Given the description of an element on the screen output the (x, y) to click on. 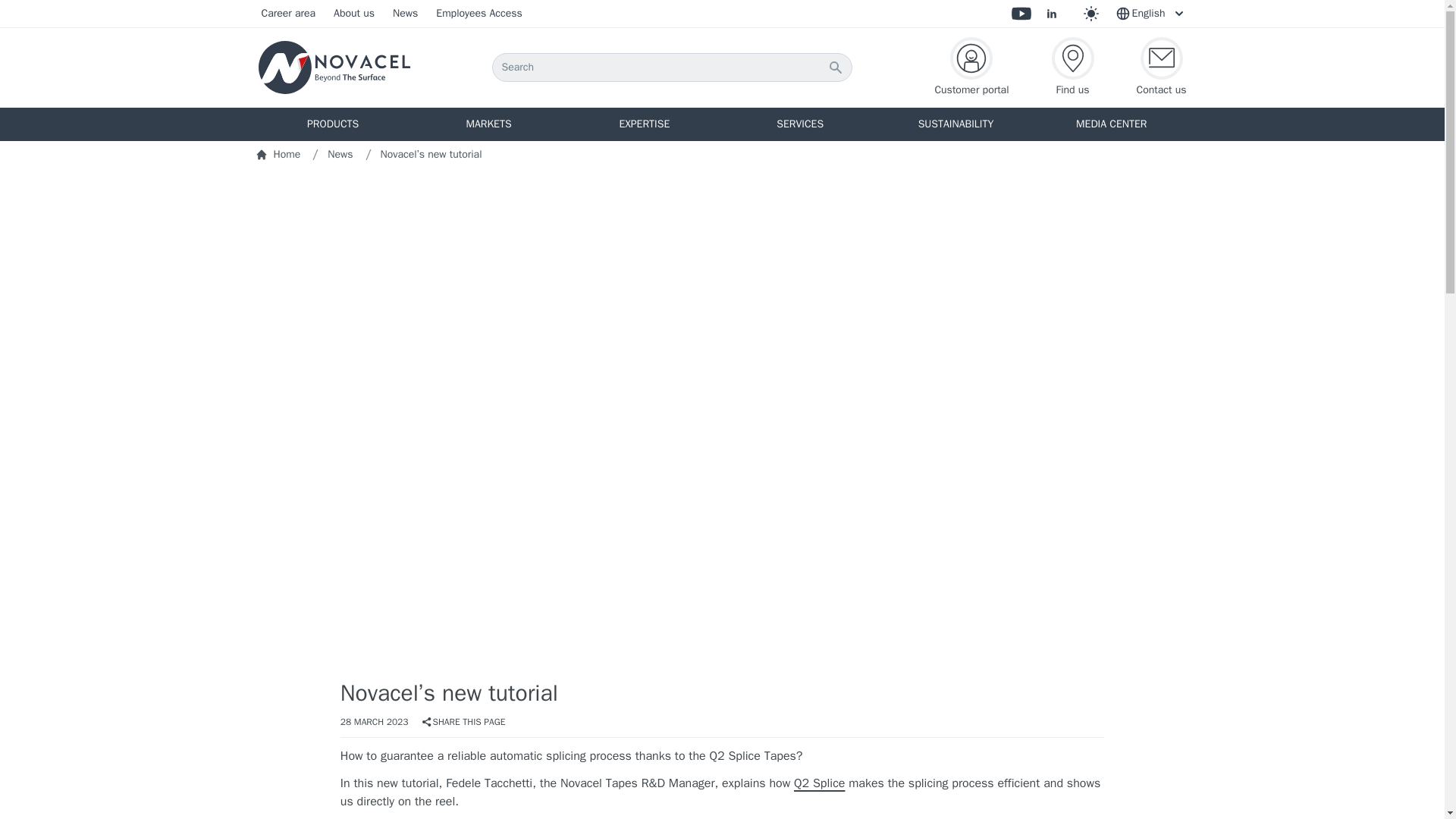
Career area (287, 13)
LinkedIn (1051, 13)
PRODUCTS (332, 123)
MARKETS (488, 123)
About us (353, 13)
English (1149, 13)
Youtube (1021, 13)
Customer portal (971, 67)
Employees Access (478, 13)
Novacel (333, 67)
News (405, 13)
